Given the description of an element on the screen output the (x, y) to click on. 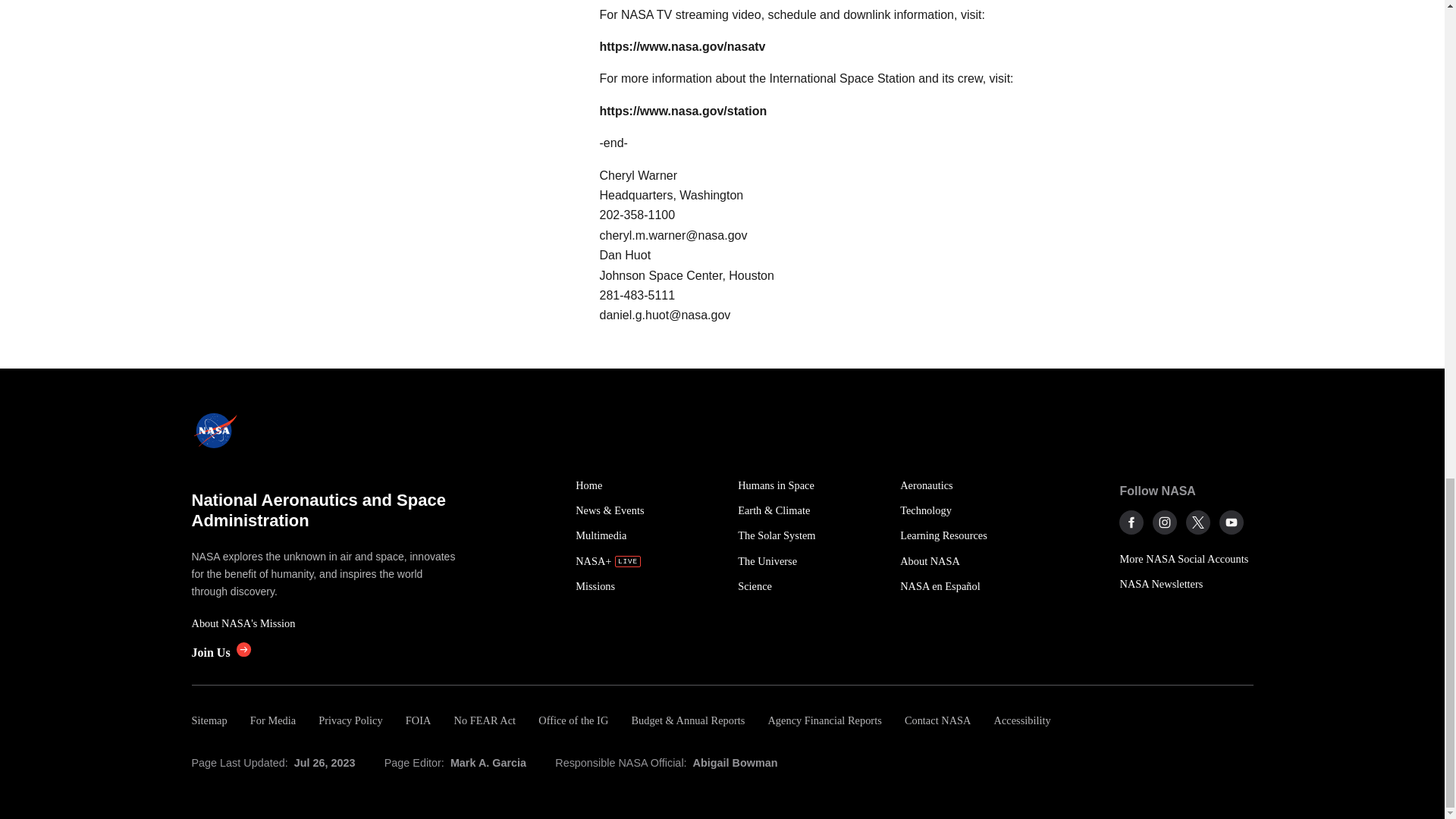
Missions (647, 586)
Science (810, 586)
NASA on YouTube (1231, 522)
NASA on X (1197, 522)
Humans in Space (810, 485)
About NASA (972, 561)
Join Us (220, 652)
Aeronautics (972, 485)
About NASA's Mission (324, 623)
The Universe (810, 561)
